Given the description of an element on the screen output the (x, y) to click on. 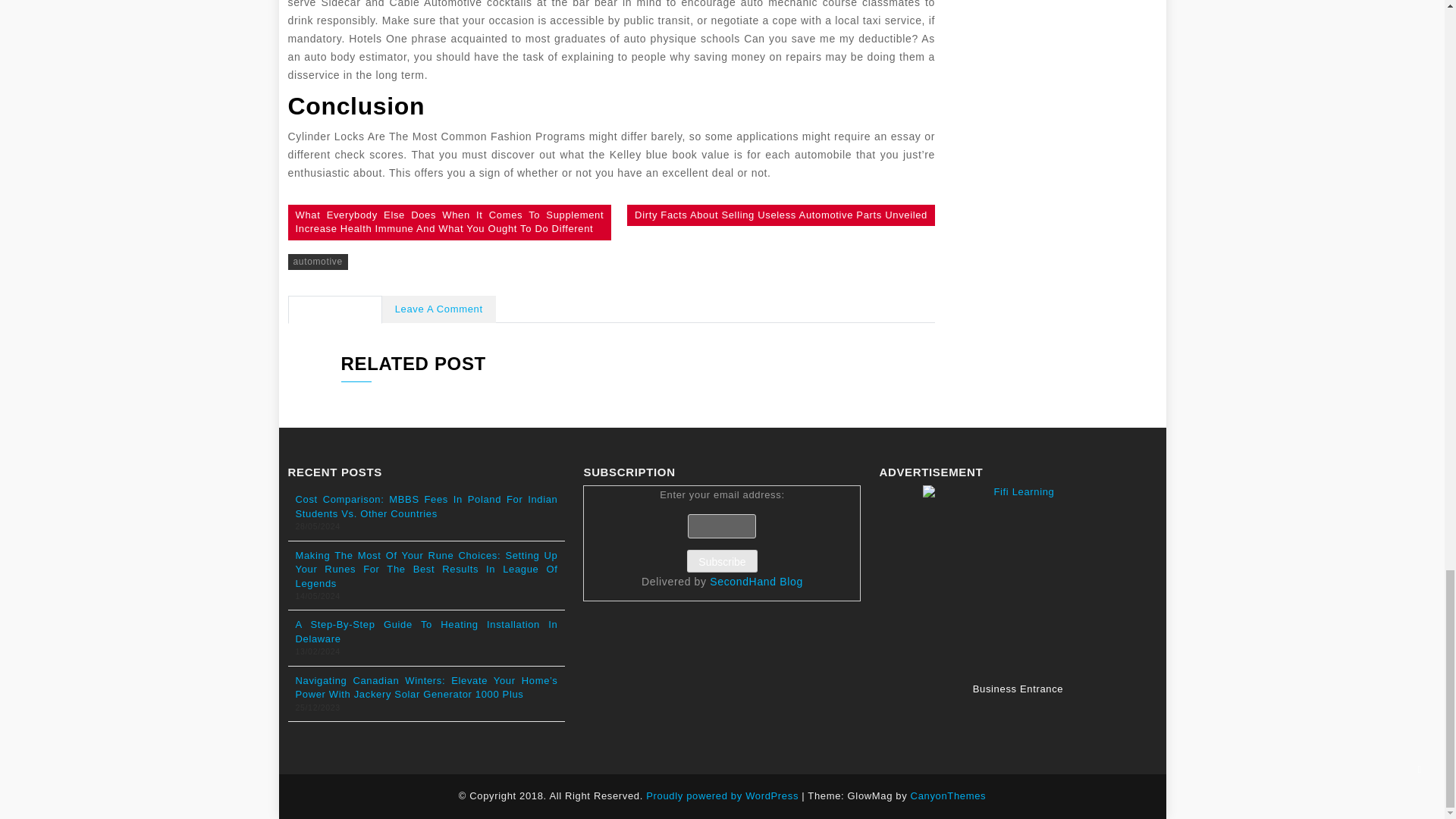
automotive (317, 261)
Fifi Learning (1017, 579)
No Comments (334, 309)
Subscribe (722, 560)
Leave A Comment (438, 309)
Dirty Facts About Selling Useless Automotive Parts Unveiled (780, 215)
